Given the description of an element on the screen output the (x, y) to click on. 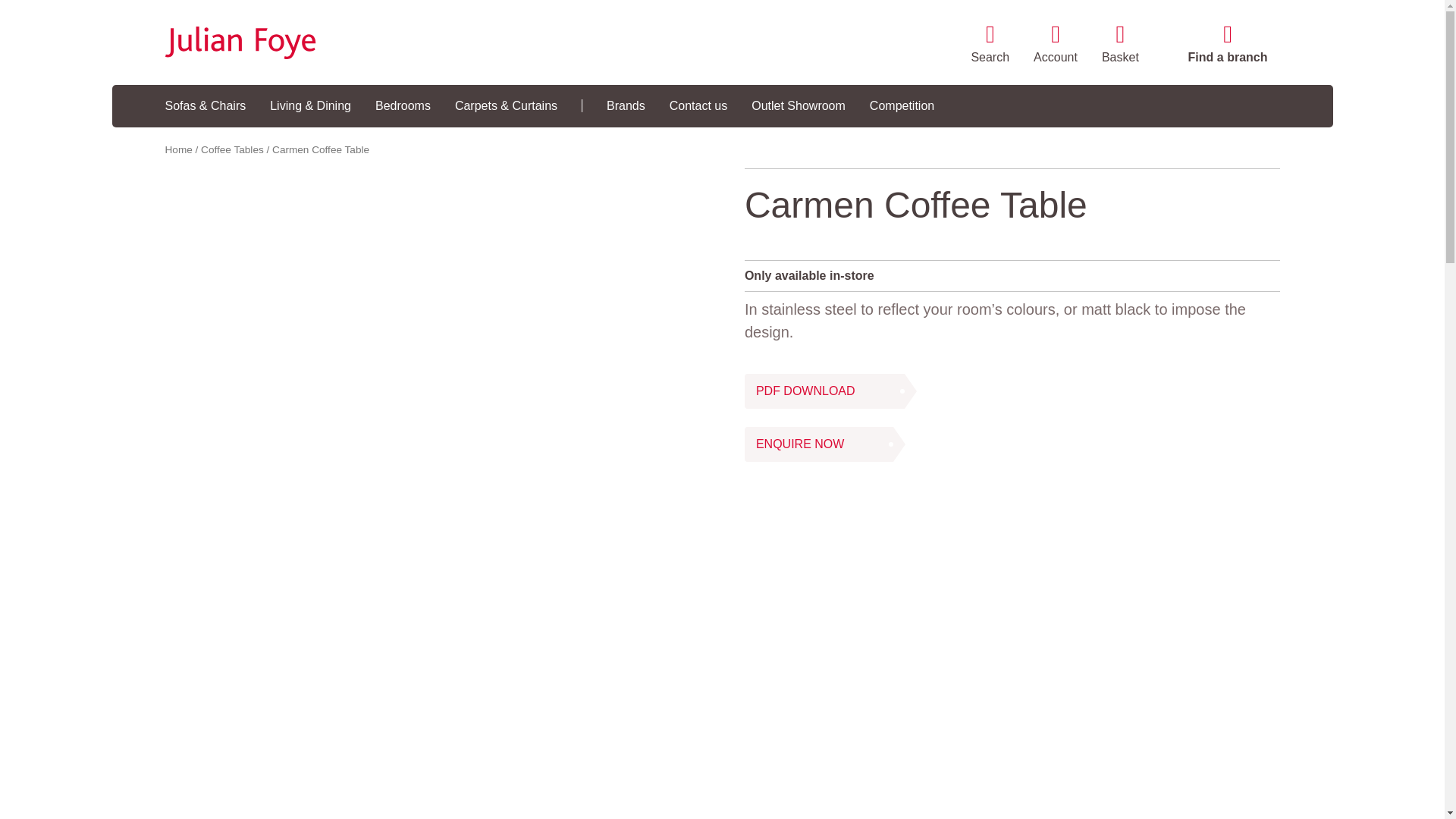
Search (990, 45)
Find a branch (1228, 45)
Account (1055, 45)
